Given the description of an element on the screen output the (x, y) to click on. 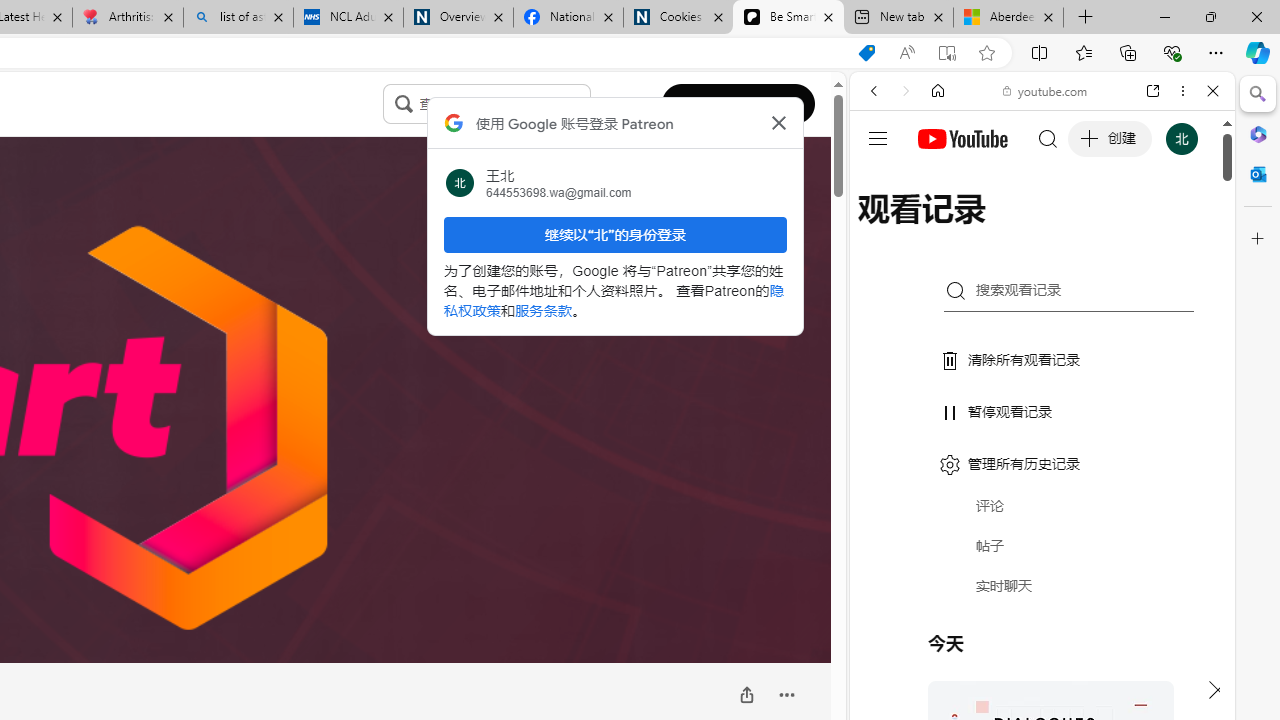
Show More Music (1164, 546)
